Given the description of an element on the screen output the (x, y) to click on. 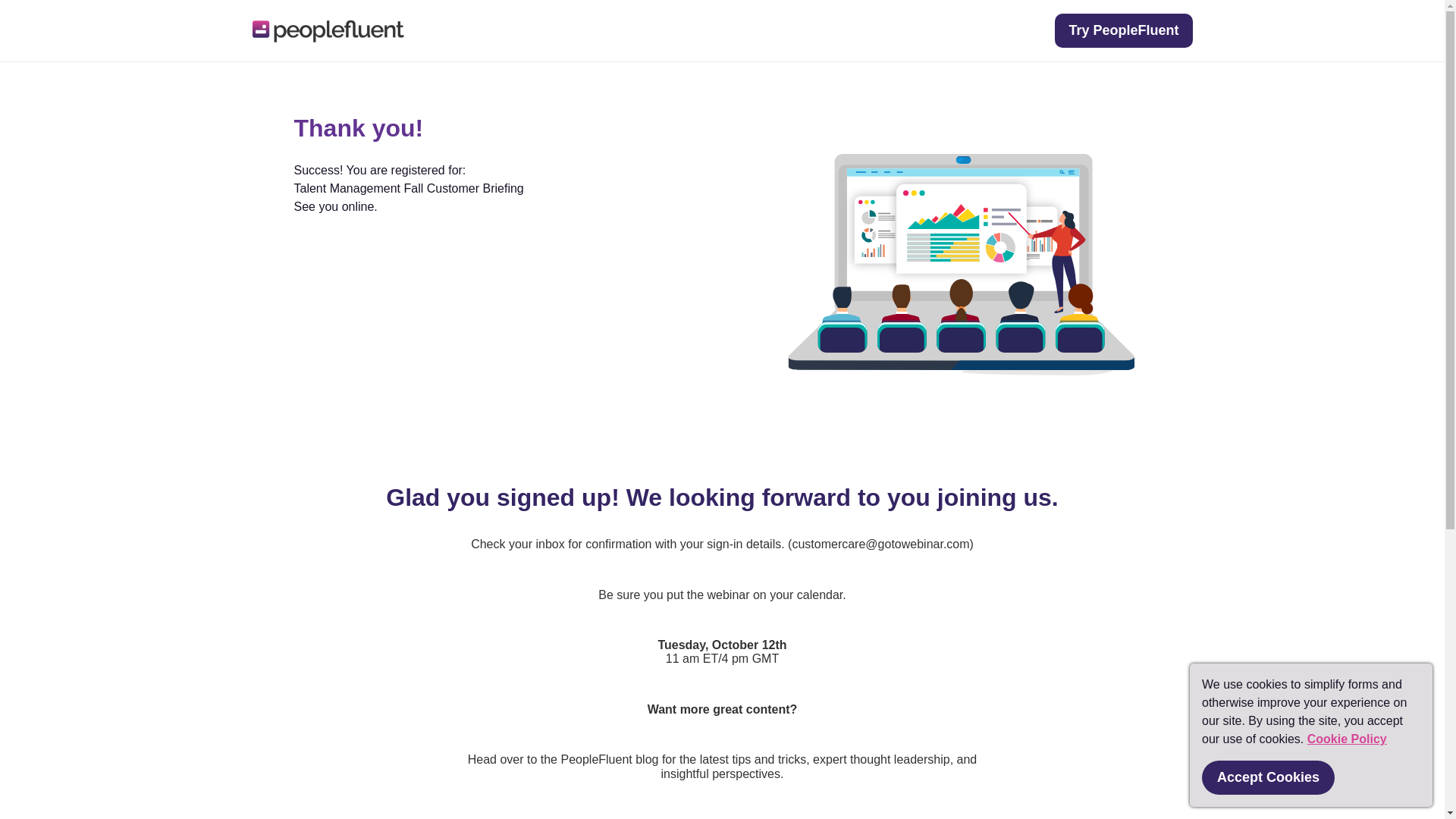
Cookie Policy (1347, 738)
Try PeopleFluent (1123, 30)
Accept Cookies (1268, 777)
